Given the description of an element on the screen output the (x, y) to click on. 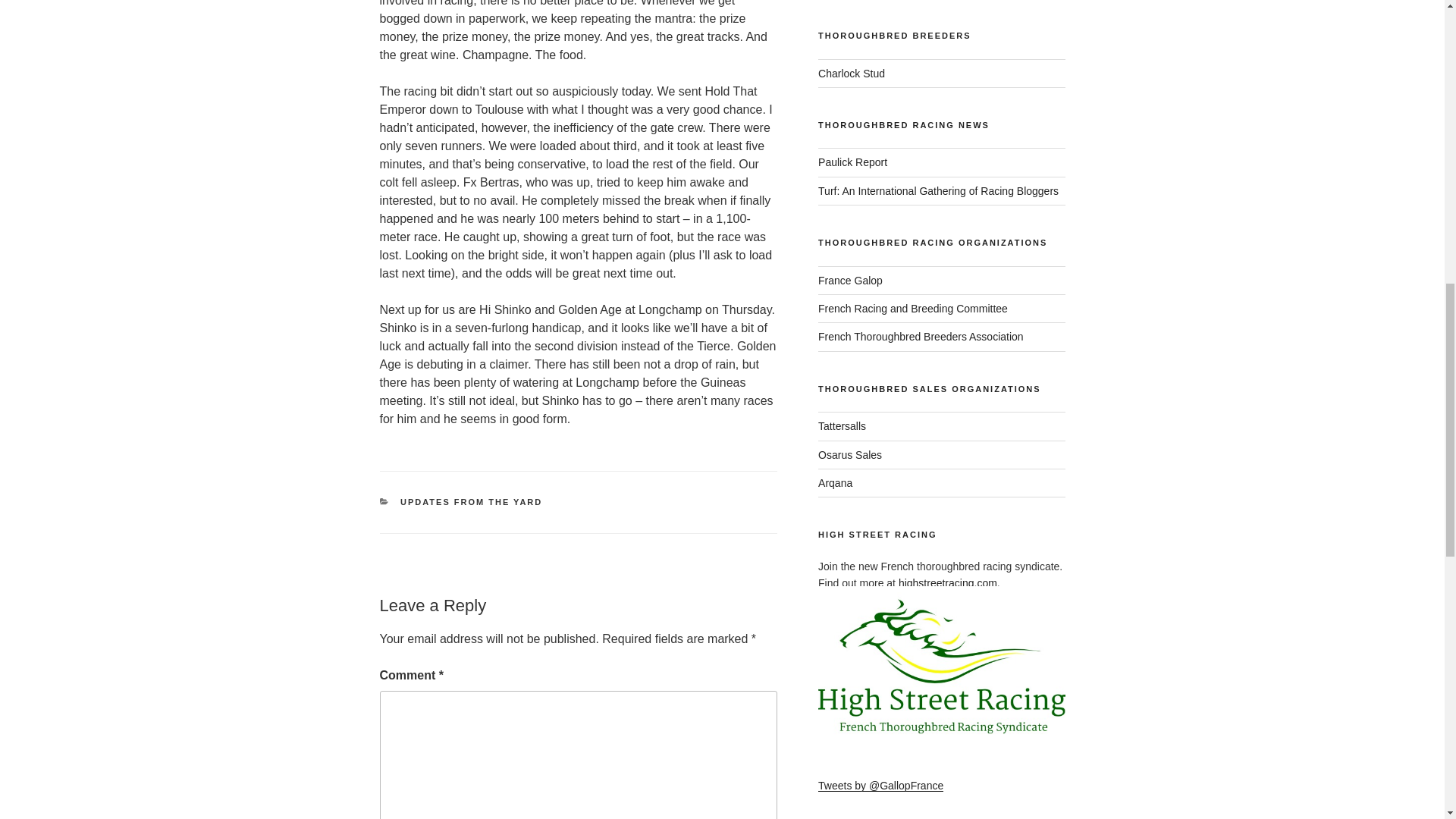
Turf: An International Gathering of Racing Bloggers (938, 191)
highstreetracing.com. (949, 582)
French Thoroughbred Breeders Association (920, 336)
Osarus Sales (850, 454)
France Galop (850, 280)
Tattersalls (842, 426)
Paulick Report (852, 162)
French Racing and Breeding Committee (912, 308)
Thoroughbred Breeders (851, 73)
Pur-sang Ventes aux encheres des cheveaux (834, 482)
